Given the description of an element on the screen output the (x, y) to click on. 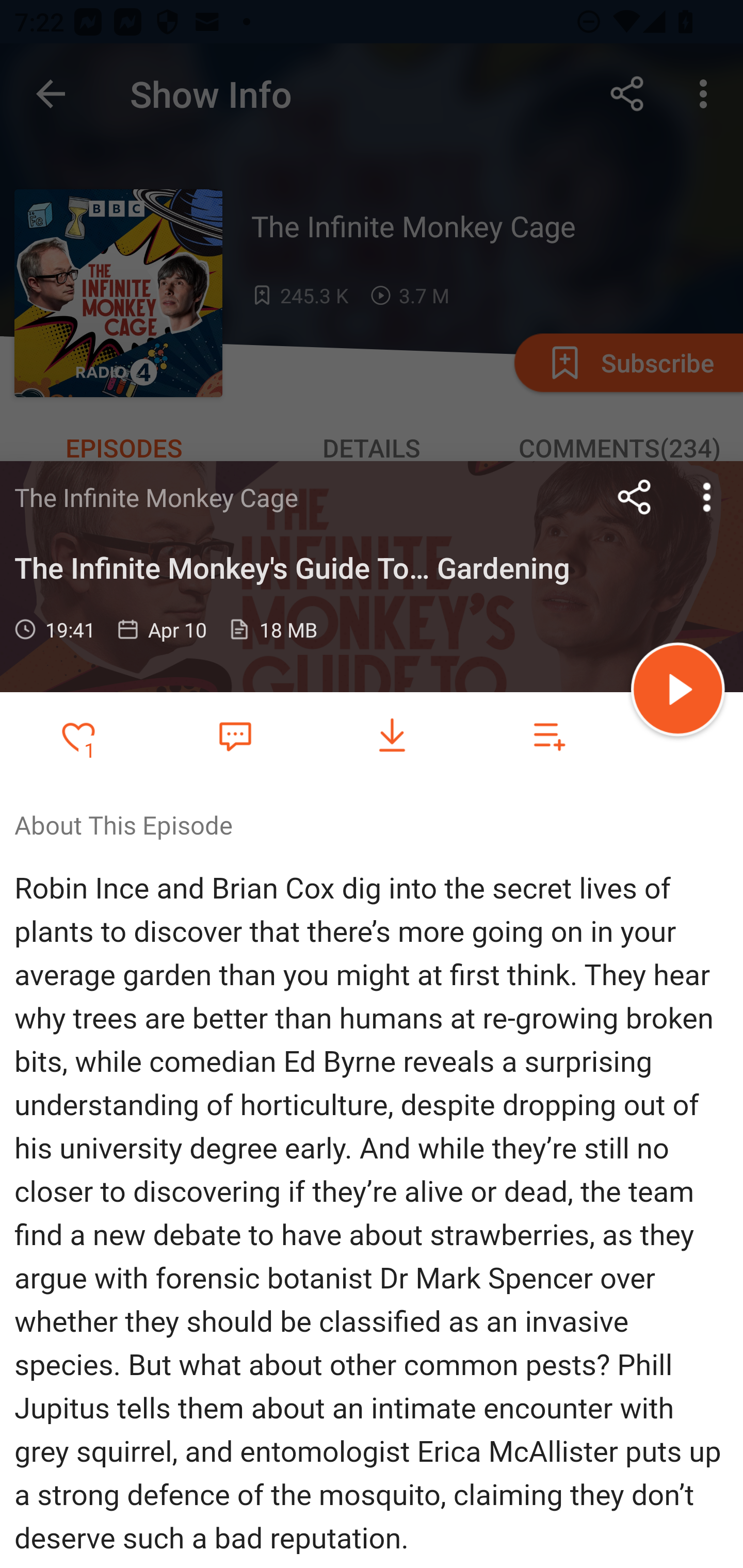
Share (634, 496)
more options (706, 496)
Play (677, 692)
Favorite (234, 735)
Add to Favorites (78, 735)
Download (391, 735)
Add to playlist (548, 735)
